Given the description of an element on the screen output the (x, y) to click on. 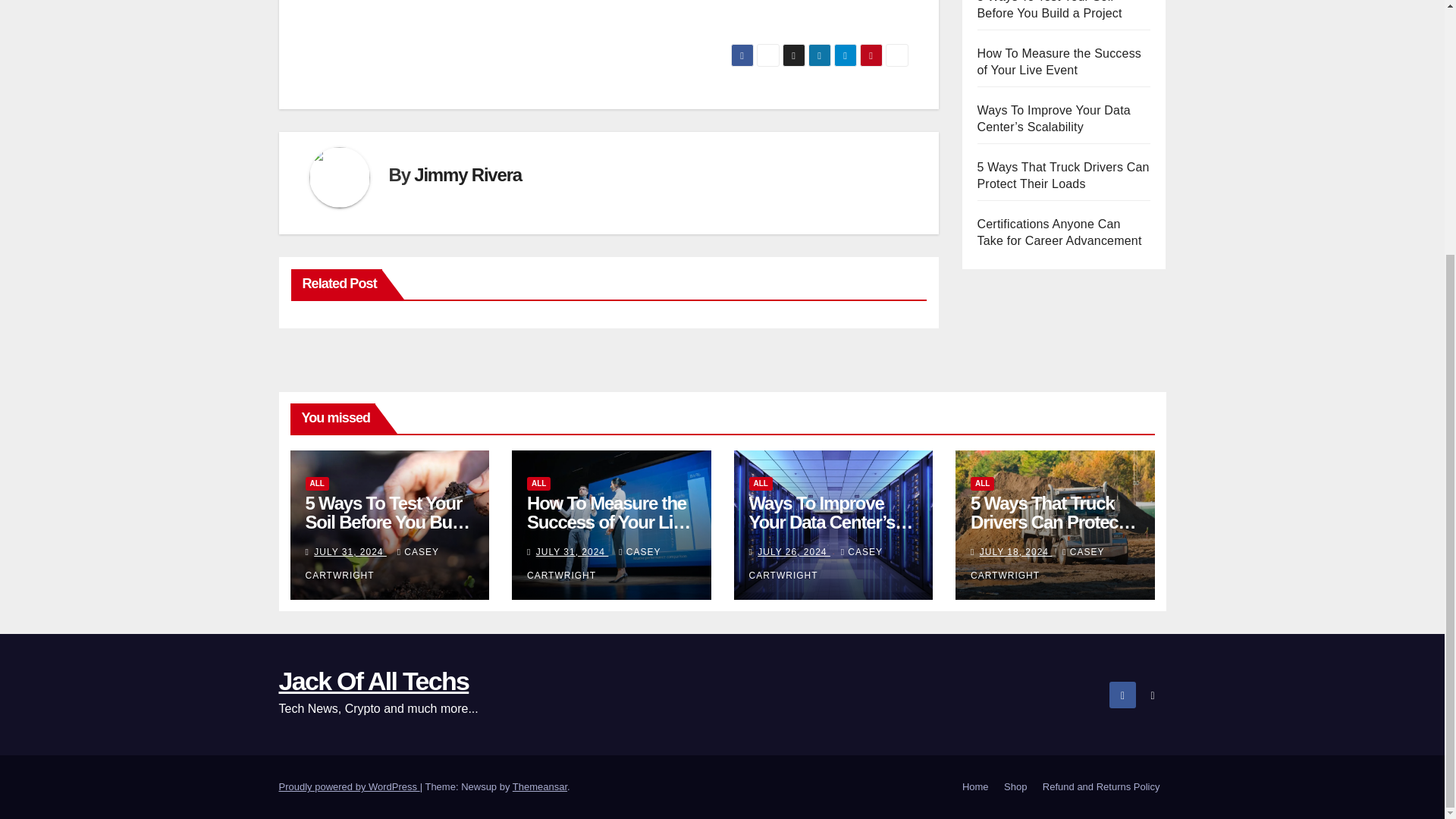
Jimmy Rivera (467, 174)
Refund and Returns Policy (1101, 786)
Shop (1014, 786)
Home (975, 786)
Permalink to: How To Measure the Success of Your Live Event (609, 522)
5 Ways To Test Your Soil Before You Build a Project (1048, 9)
